Given the description of an element on the screen output the (x, y) to click on. 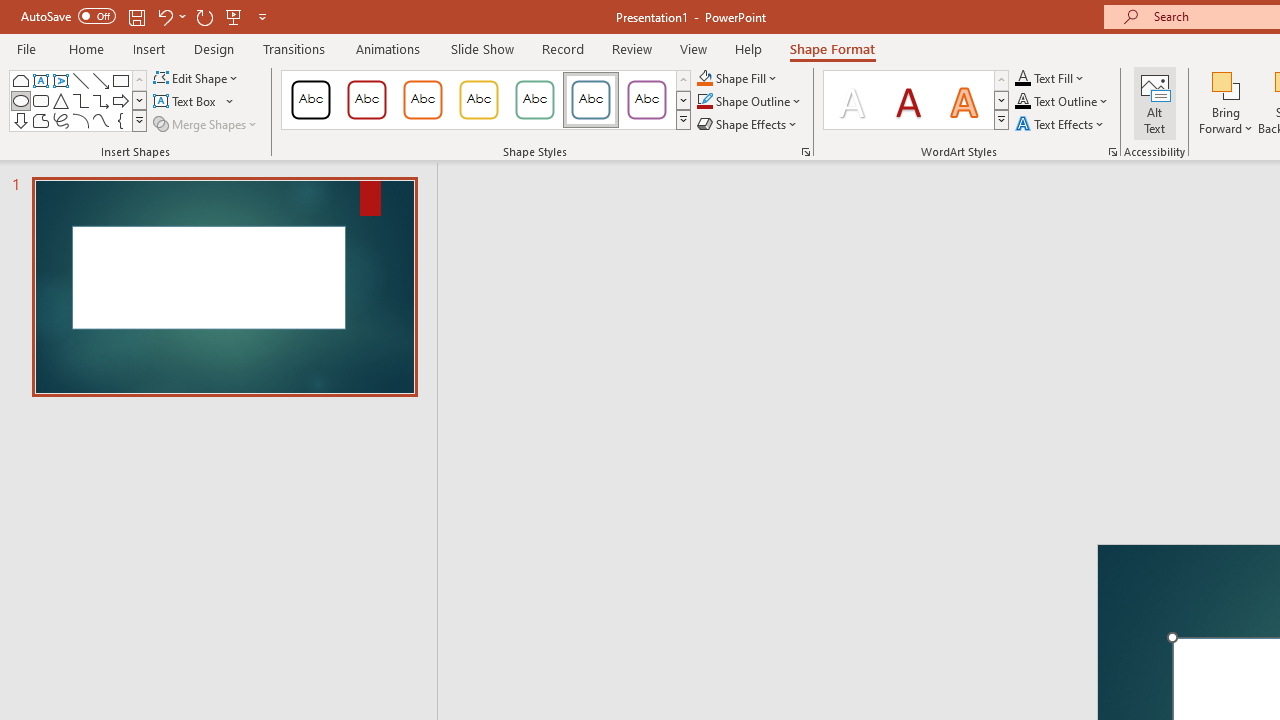
Fill: White, Text color 1; Shadow (852, 100)
Format Object... (805, 151)
Draw Horizontal Text Box (185, 101)
Shape Outline (749, 101)
Text Box (194, 101)
Text Effects (1061, 124)
Freeform: Shape (40, 120)
Format Text Effects... (1112, 151)
Shapes (139, 120)
Line (80, 80)
Fill: Dark Red, Accent color 1; Shadow (908, 100)
